Given the description of an element on the screen output the (x, y) to click on. 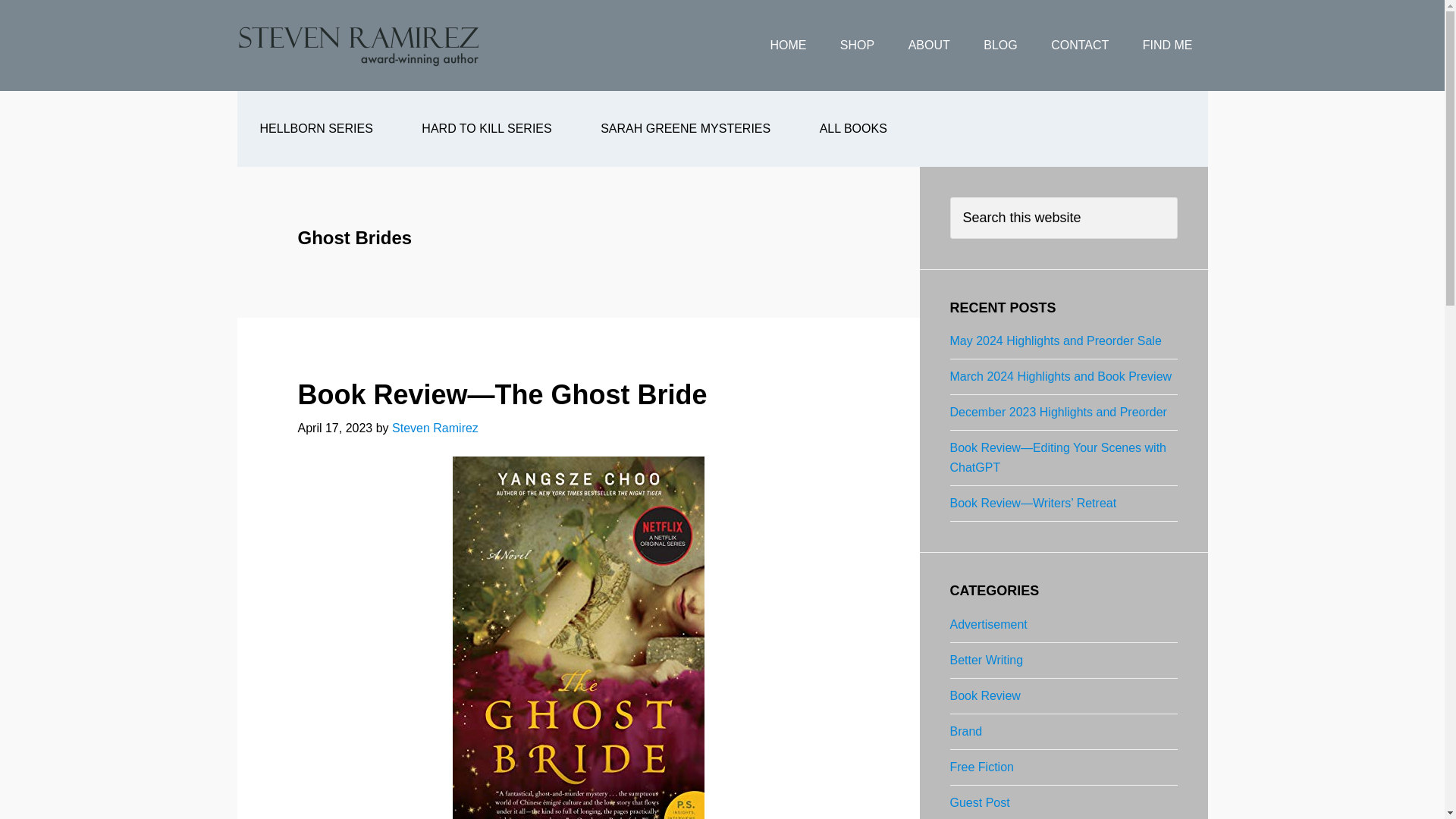
HARD TO KILL SERIES (485, 128)
CONTACT (1079, 45)
Steven Ramirez (435, 427)
Steven Ramirez (357, 45)
Book Review (984, 695)
March 2024 Highlights and Book Preview (1060, 376)
May 2024 Highlights and Preorder Sale (1054, 340)
HELLBORN SERIES (314, 128)
Advertisement (987, 624)
Better Writing (986, 659)
ALL BOOKS (853, 128)
SARAH GREENE MYSTERIES (685, 128)
